Given the description of an element on the screen output the (x, y) to click on. 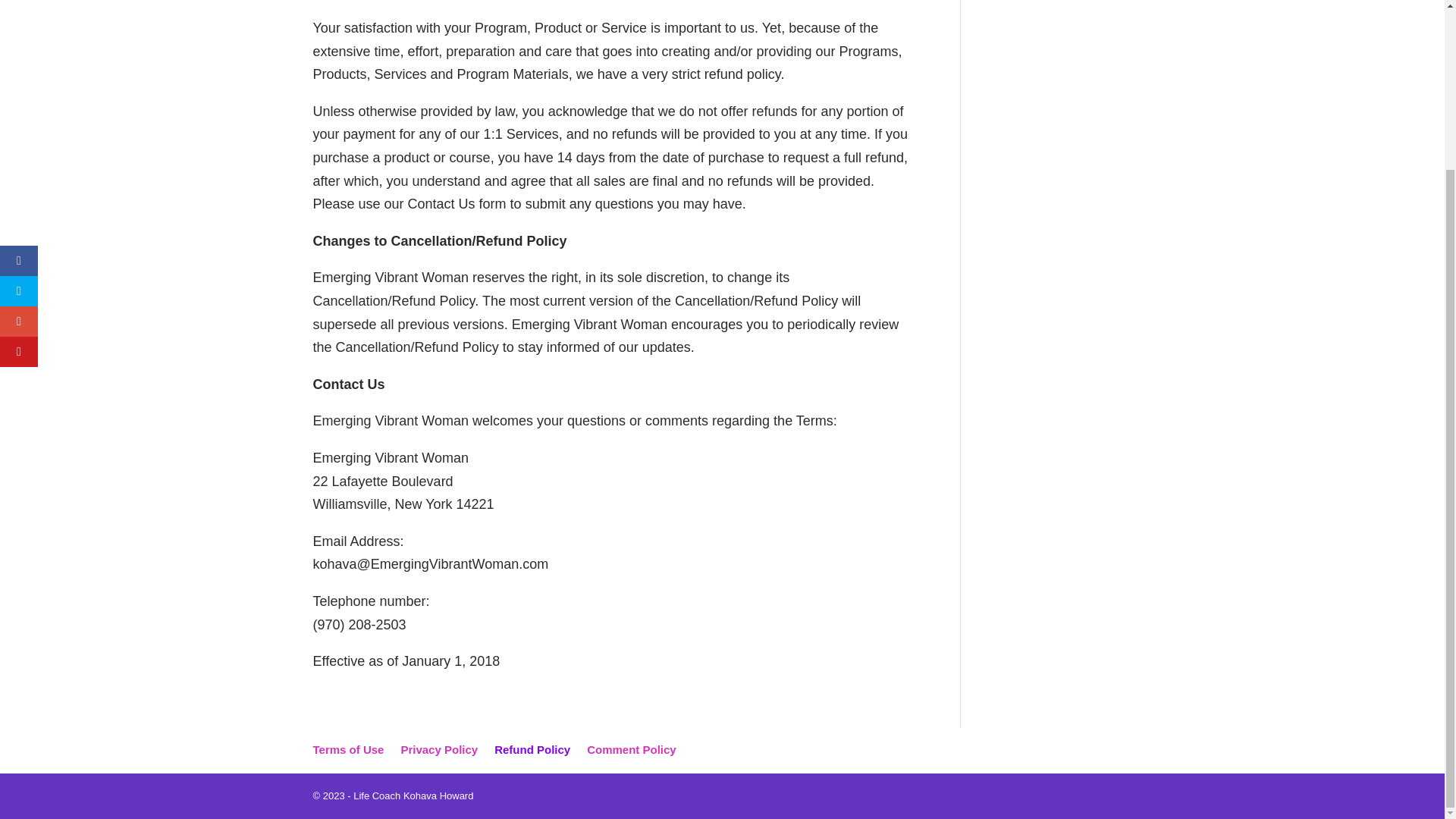
Refund Policy (532, 748)
Privacy Policy (438, 748)
Comment Policy (631, 748)
Terms of Use (348, 748)
